Given the description of an element on the screen output the (x, y) to click on. 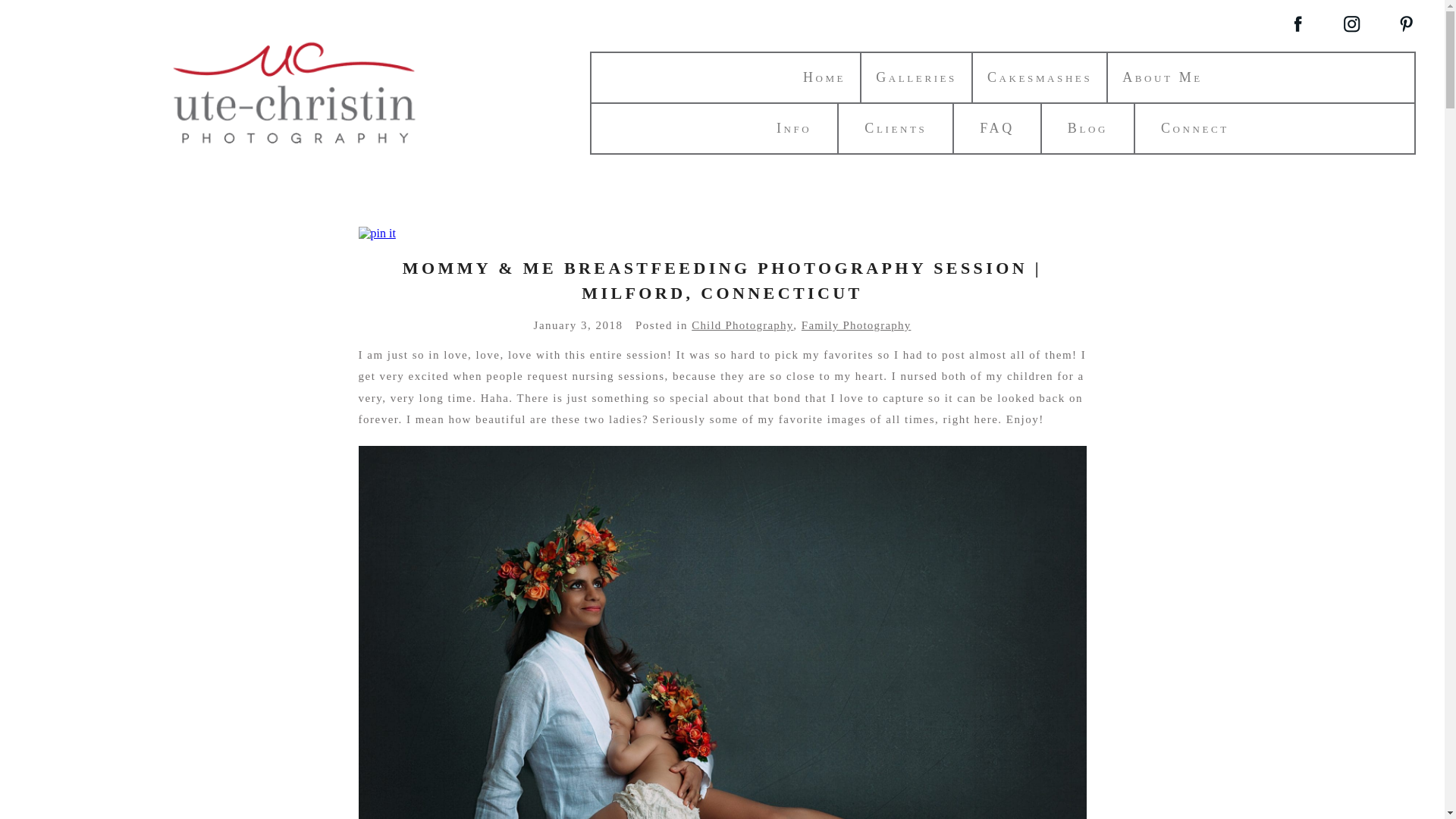
Galleries (916, 77)
About Me (1162, 77)
Cakesmashes (1039, 77)
FAQ (996, 127)
Home (824, 77)
Info (793, 127)
Connect (1194, 127)
Blog (1087, 127)
